Given the description of an element on the screen output the (x, y) to click on. 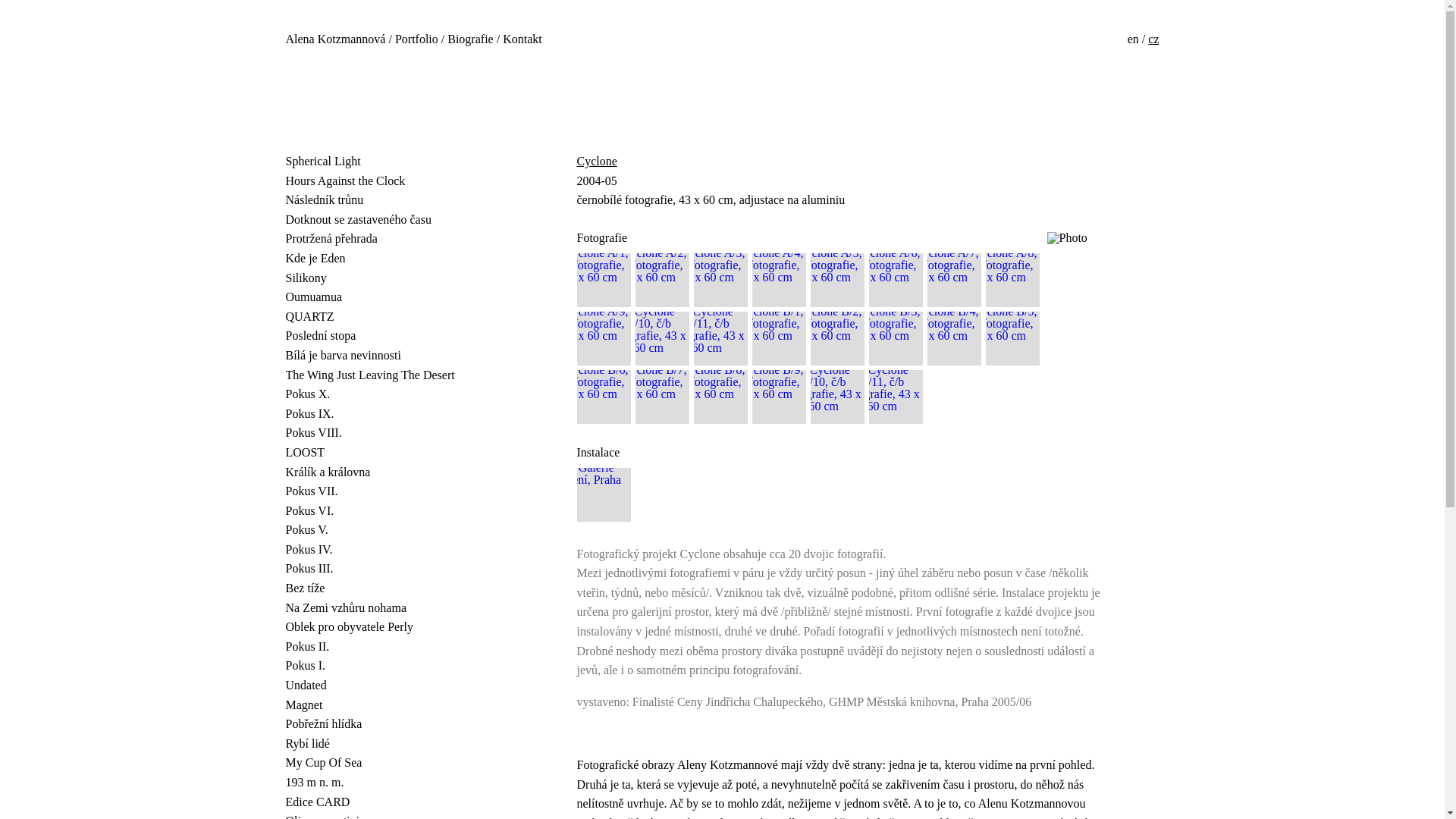
Undated (383, 685)
Pokus VIII. (383, 433)
QUARTZ (383, 316)
Spherical Light (383, 161)
Kontakt (521, 38)
Pokus IX. (383, 414)
Pokus III. (383, 568)
193 m n. m. (383, 782)
Silikony (383, 278)
Oumuamua (383, 297)
